Given the description of an element on the screen output the (x, y) to click on. 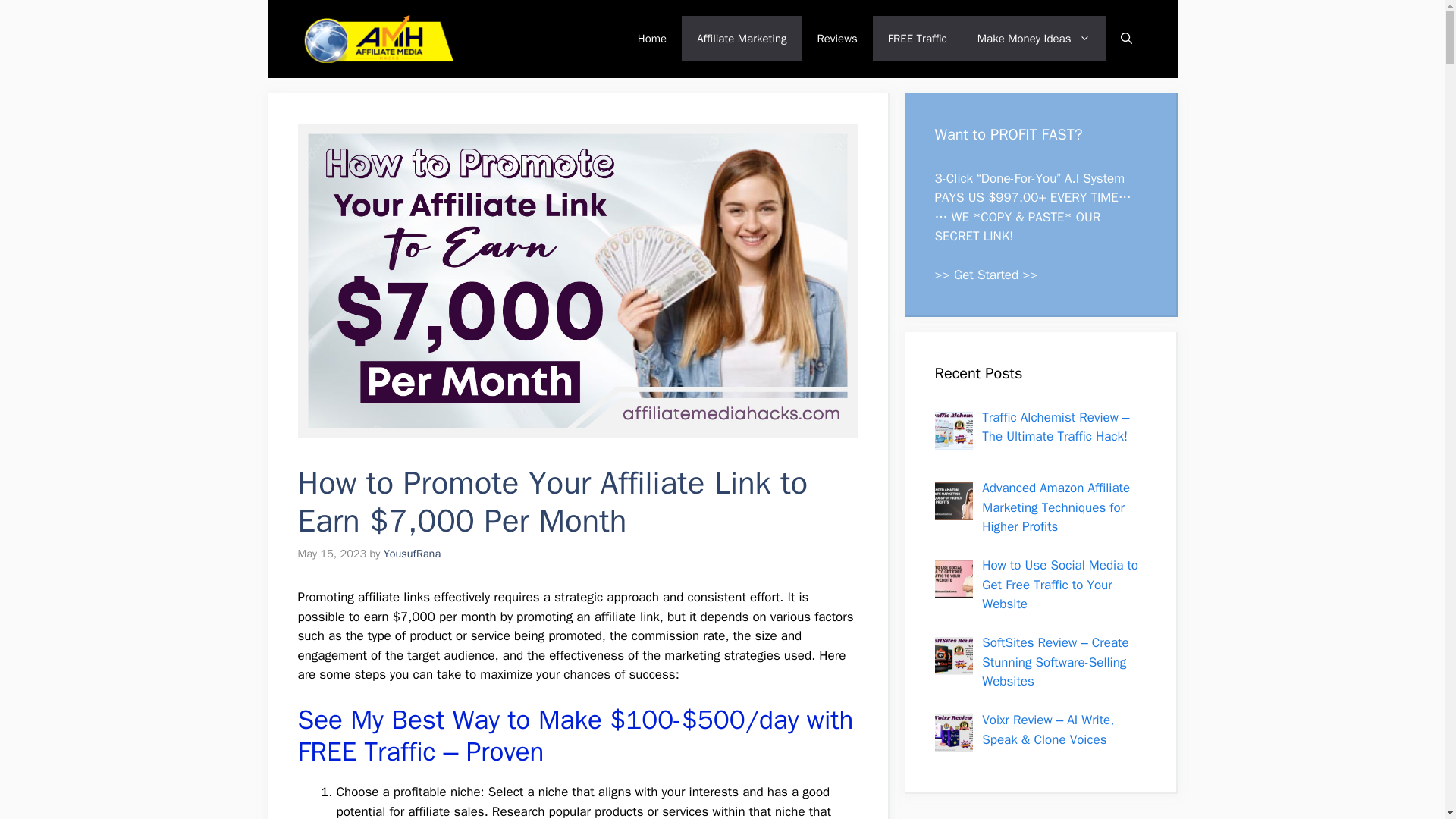
Make Money Ideas (1033, 38)
FREE Traffic (917, 38)
Home (652, 38)
Affiliate Marketing (741, 38)
Reviews (837, 38)
YousufRana (412, 553)
View all posts by YousufRana (412, 553)
